Given the description of an element on the screen output the (x, y) to click on. 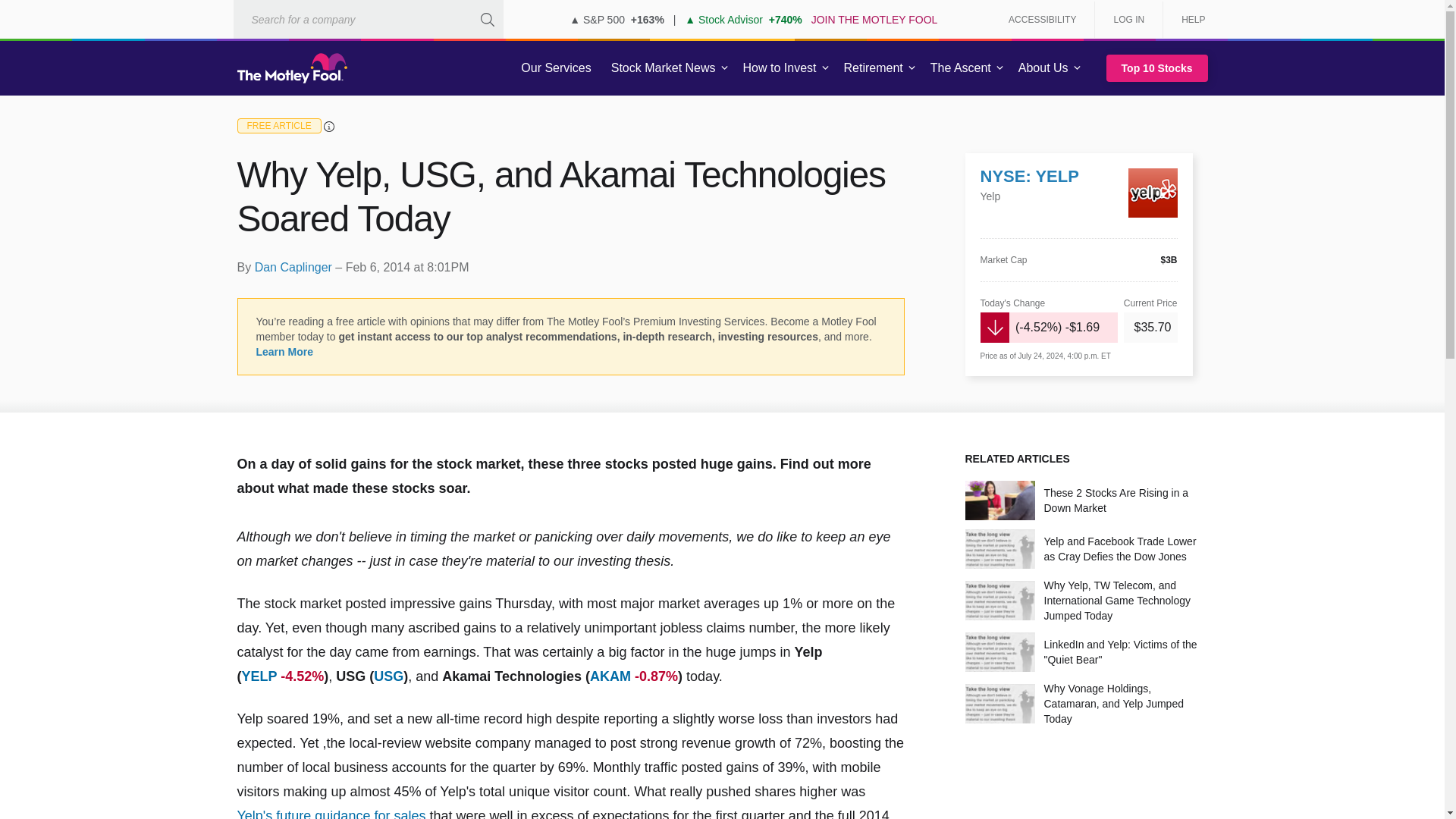
LOG IN (1128, 19)
Stock Market News (662, 67)
Our Services (555, 67)
HELP (1187, 19)
How to Invest (779, 67)
ACCESSIBILITY (1042, 19)
